Given the description of an element on the screen output the (x, y) to click on. 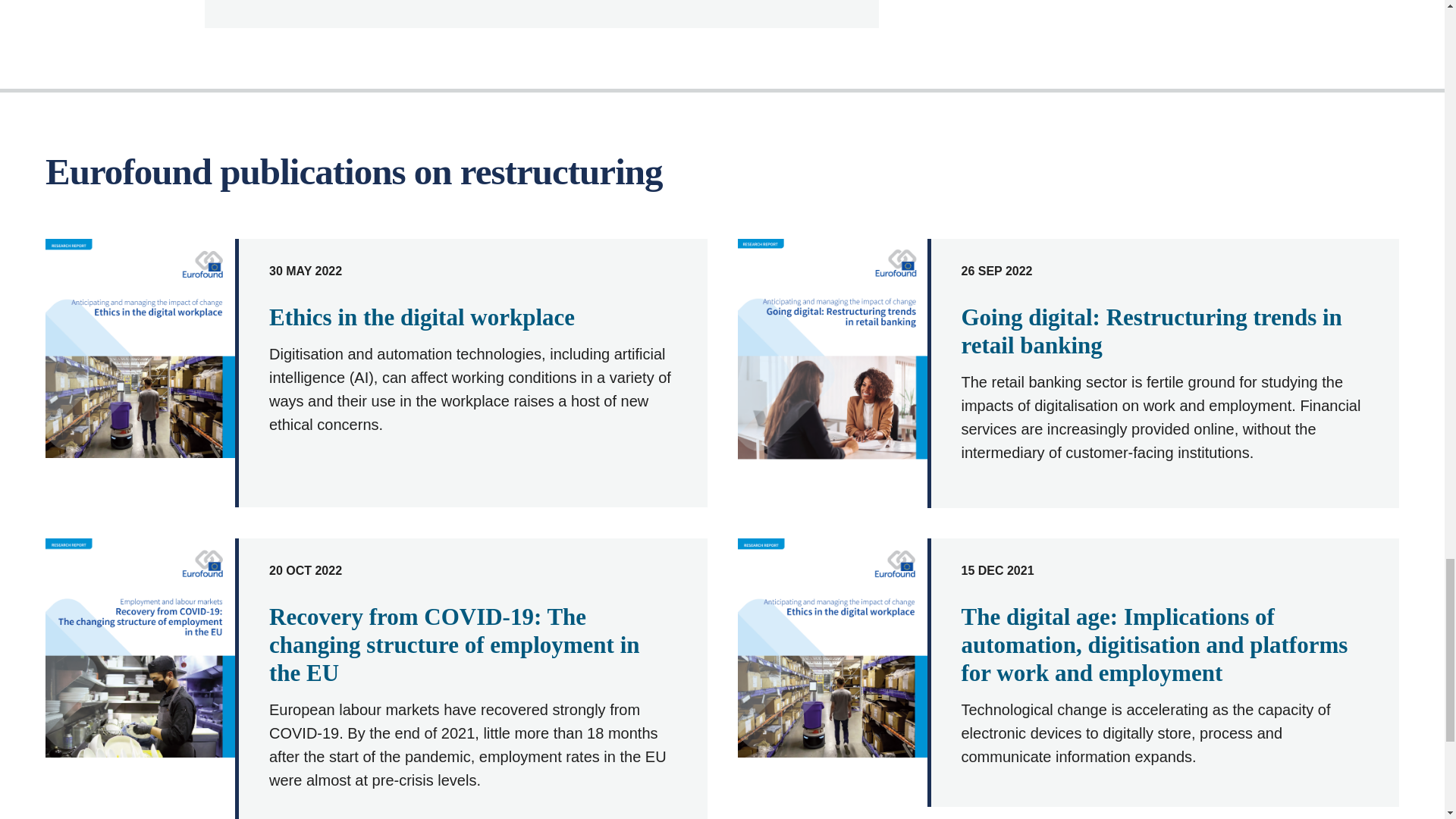
Ethics in the digital workplace (422, 316)
Going digital: Restructuring trends in retail banking (1151, 330)
